Given the description of an element on the screen output the (x, y) to click on. 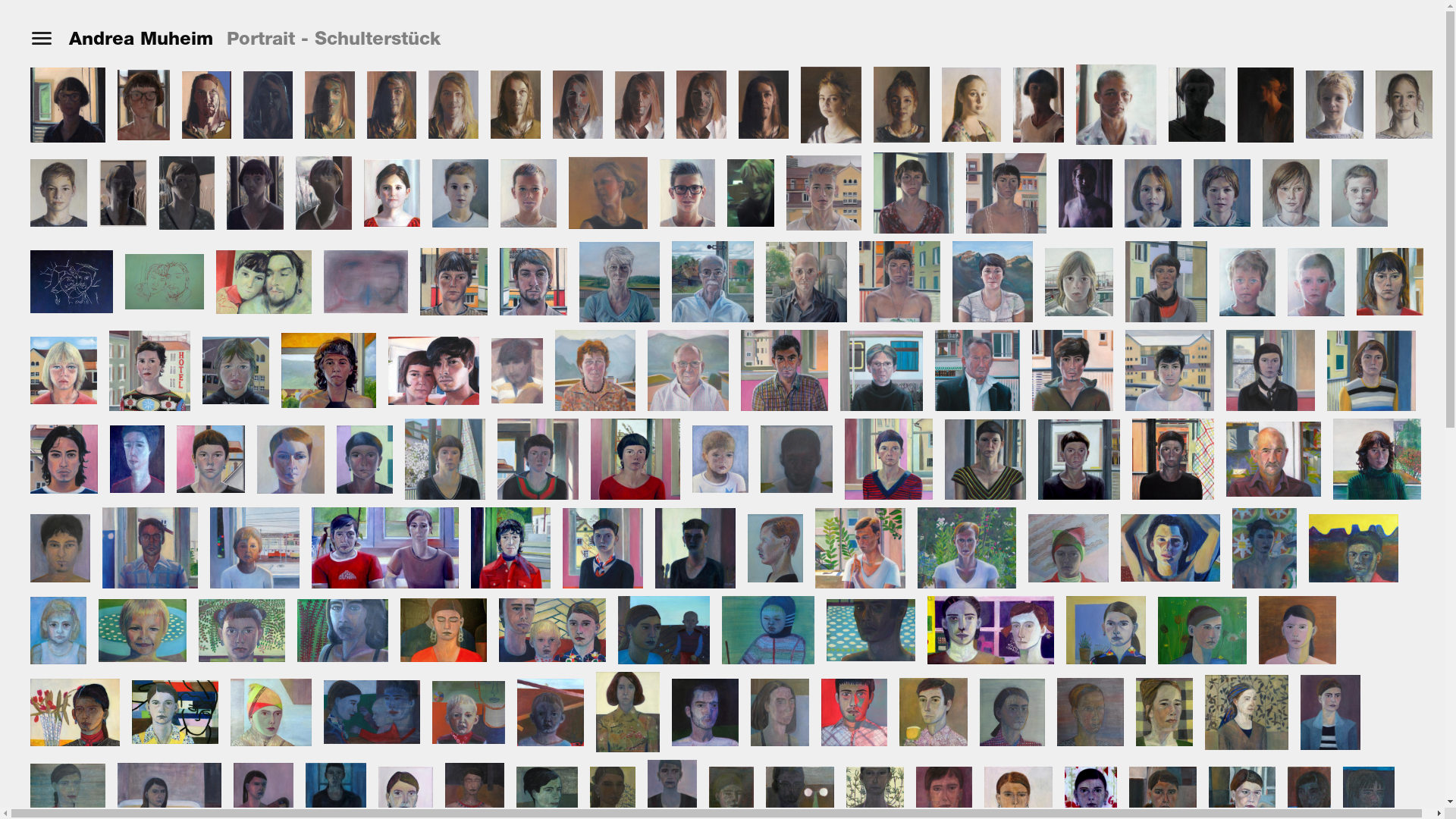
Andrea Muheim Element type: text (141, 39)
